Given the description of an element on the screen output the (x, y) to click on. 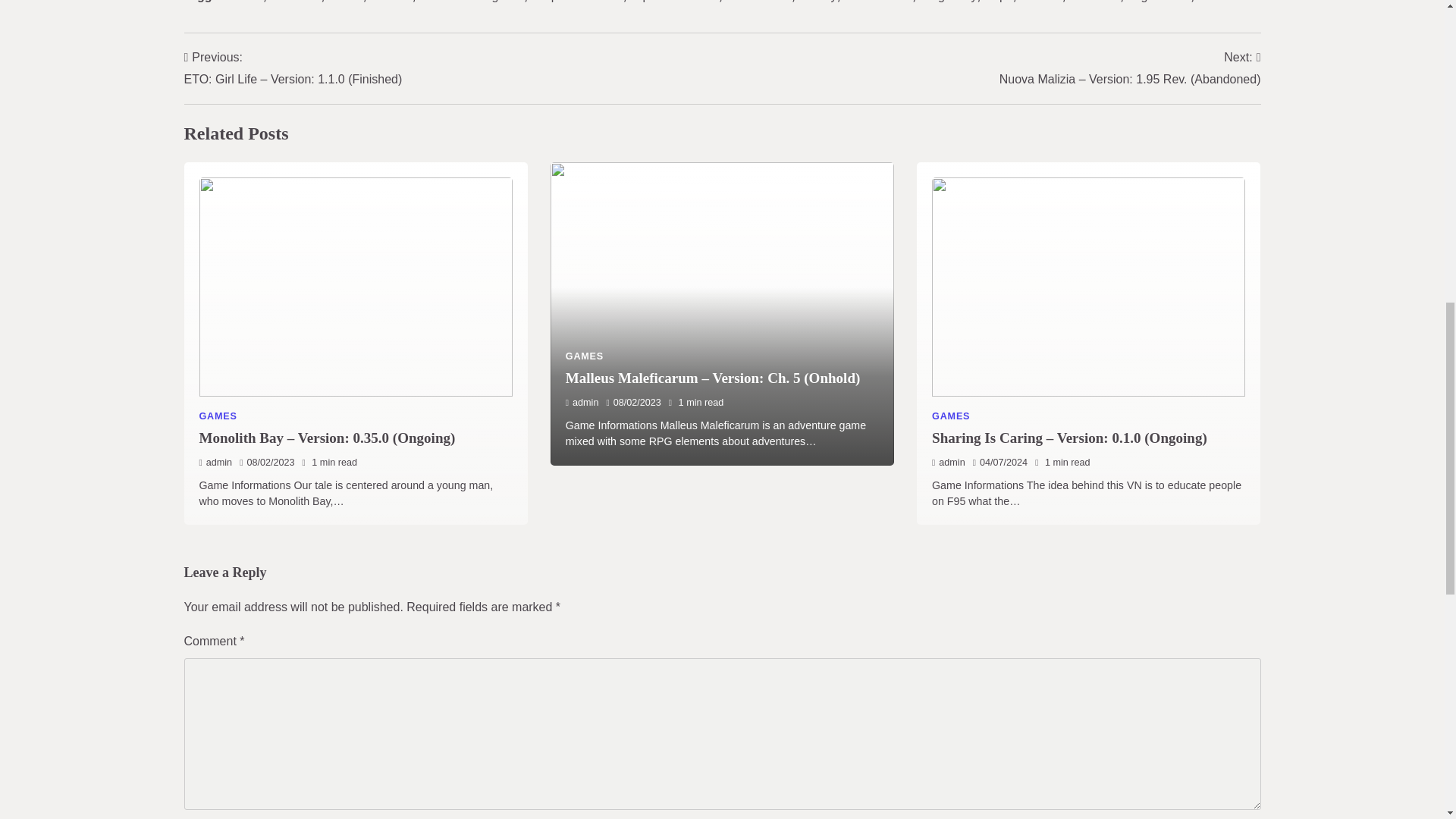
GAMES (585, 356)
Japanese Game (674, 1)
admin (582, 402)
Animated (295, 1)
Voiced (1214, 1)
Combat (390, 1)
Monster Girl (758, 1)
2DCG (246, 1)
Vaginal Sex (1158, 1)
Rape (998, 1)
Pregnancy (947, 1)
Tentacles (1094, 1)
Female Protagonist (471, 1)
GAMES (216, 416)
admin (214, 462)
